Given the description of an element on the screen output the (x, y) to click on. 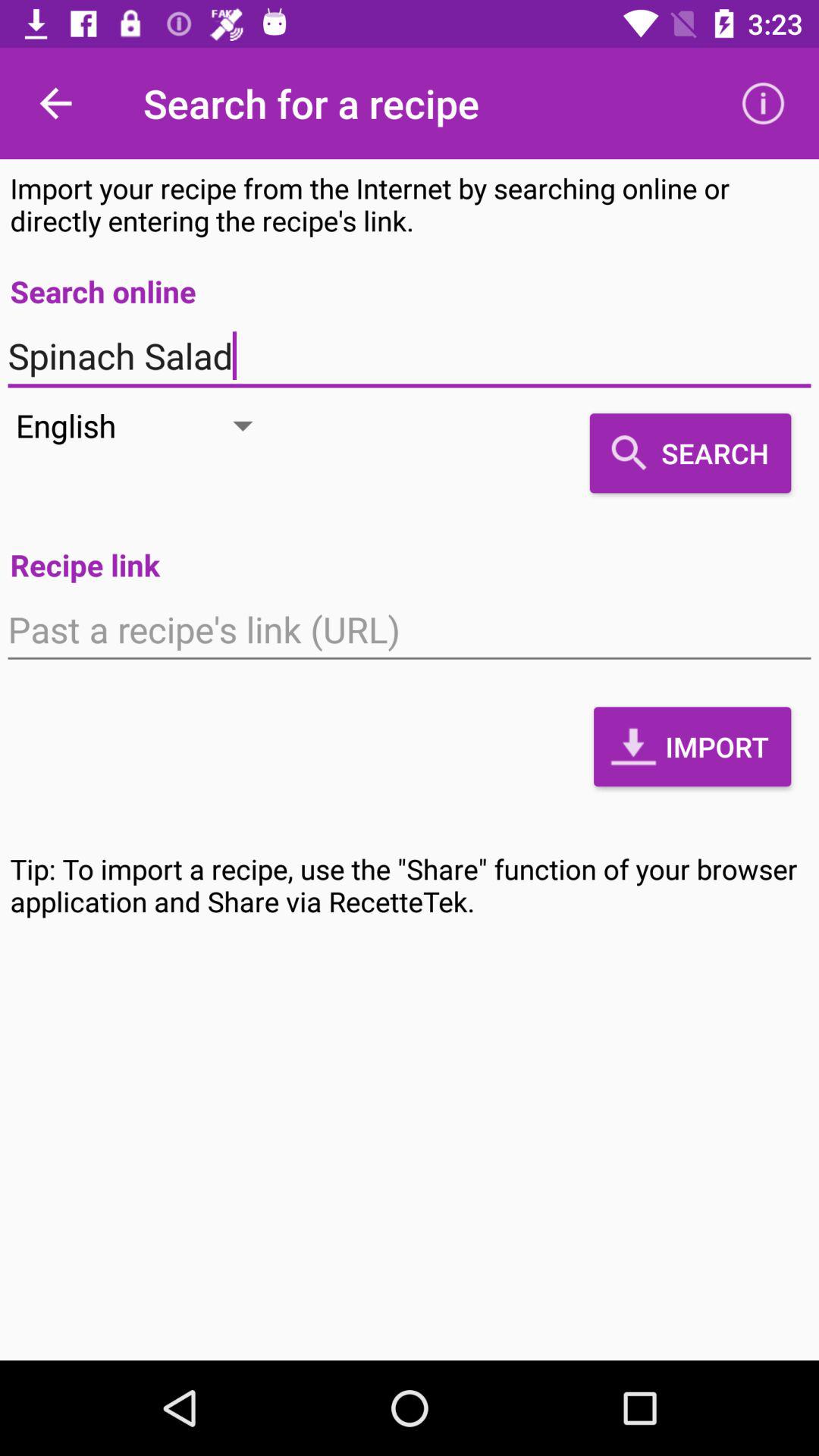
select icon below search online (409, 356)
